Given the description of an element on the screen output the (x, y) to click on. 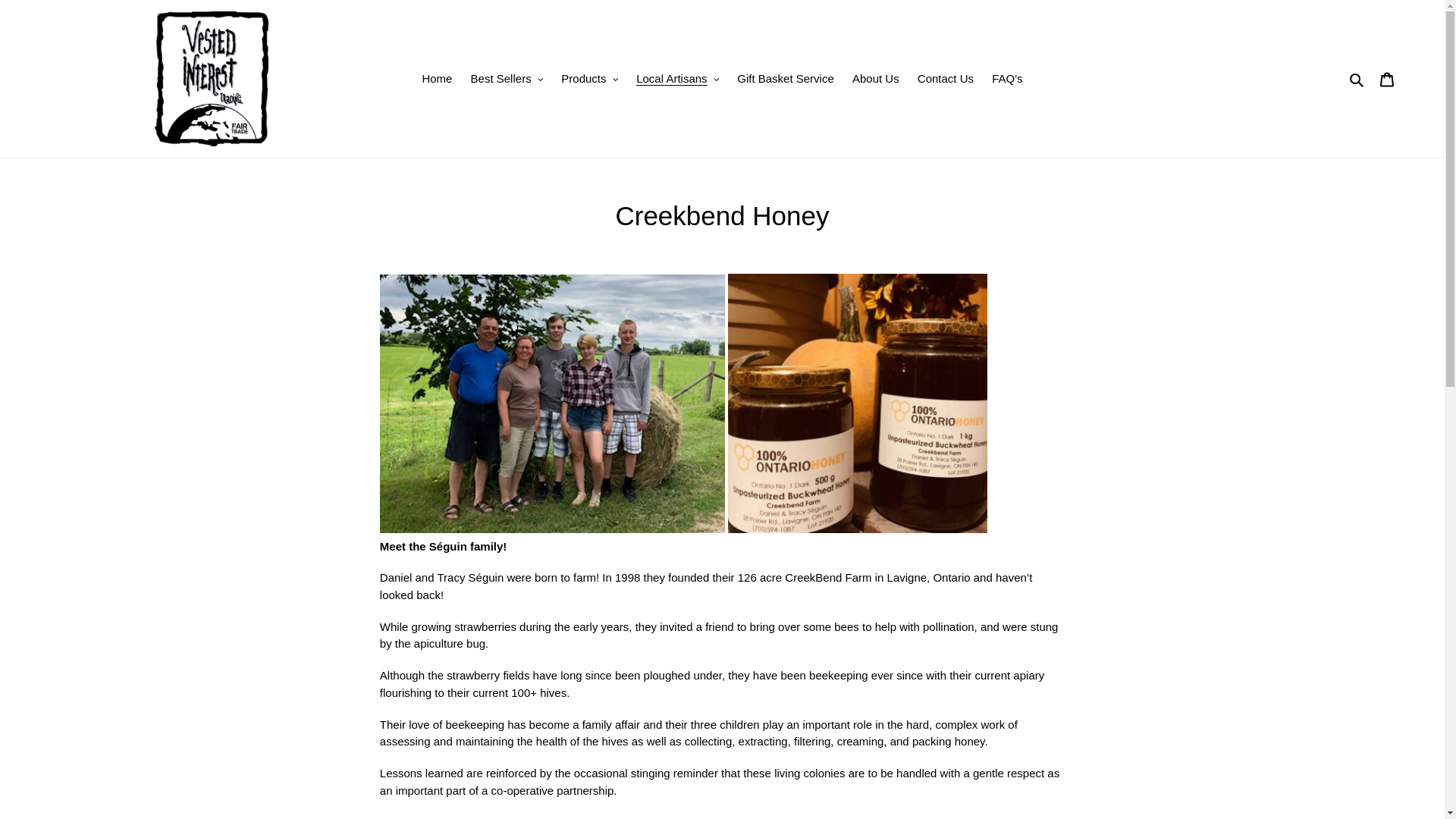
Best Sellers (507, 78)
Home (436, 78)
Local Artisans (677, 78)
Products (589, 78)
